Given the description of an element on the screen output the (x, y) to click on. 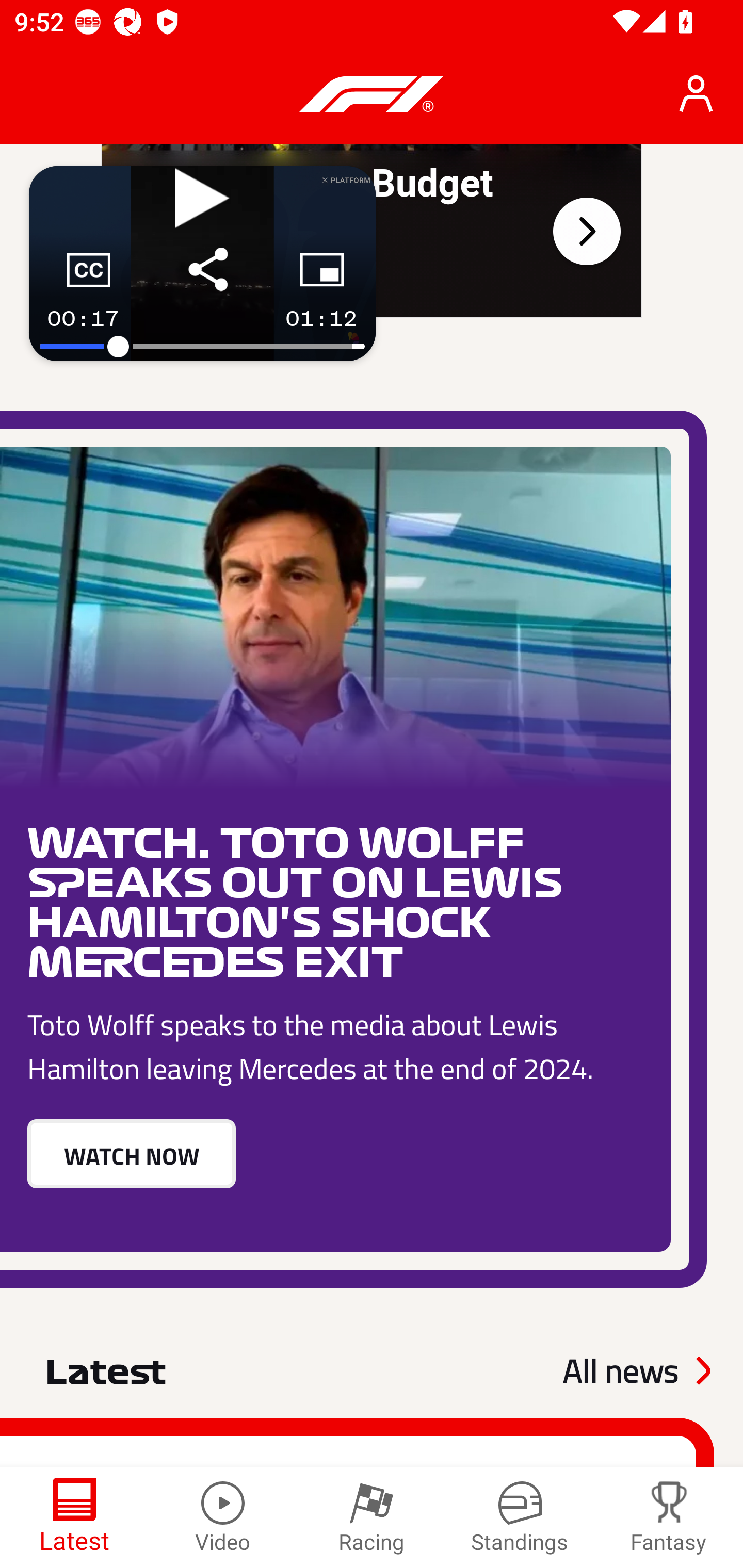
annual-dinner-event-for-company (586, 230)
WATCH NOW (131, 1153)
All news See all (635, 1370)
Video (222, 1517)
Racing (371, 1517)
Standings (519, 1517)
Fantasy (668, 1517)
